Given the description of an element on the screen output the (x, y) to click on. 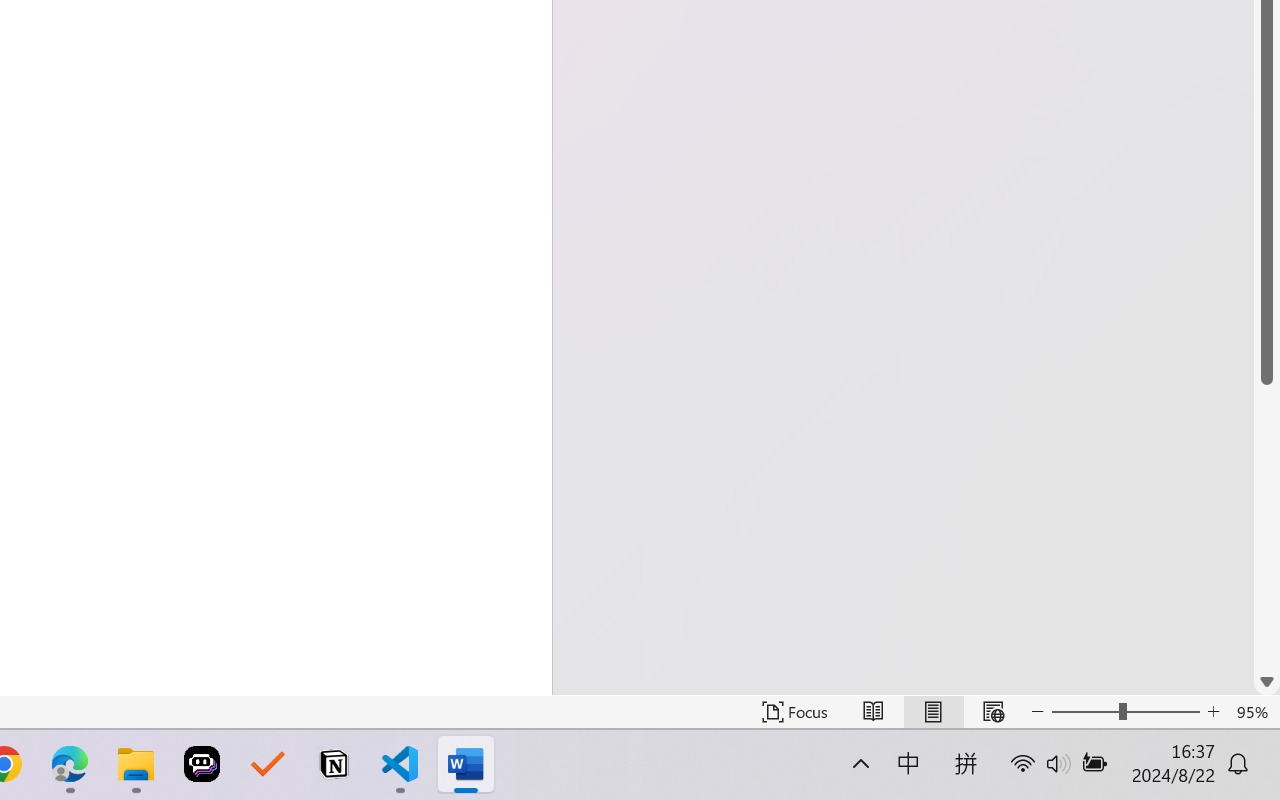
Zoom 95% (1253, 712)
Line down (1267, 681)
Page down (1267, 526)
